Given the description of an element on the screen output the (x, y) to click on. 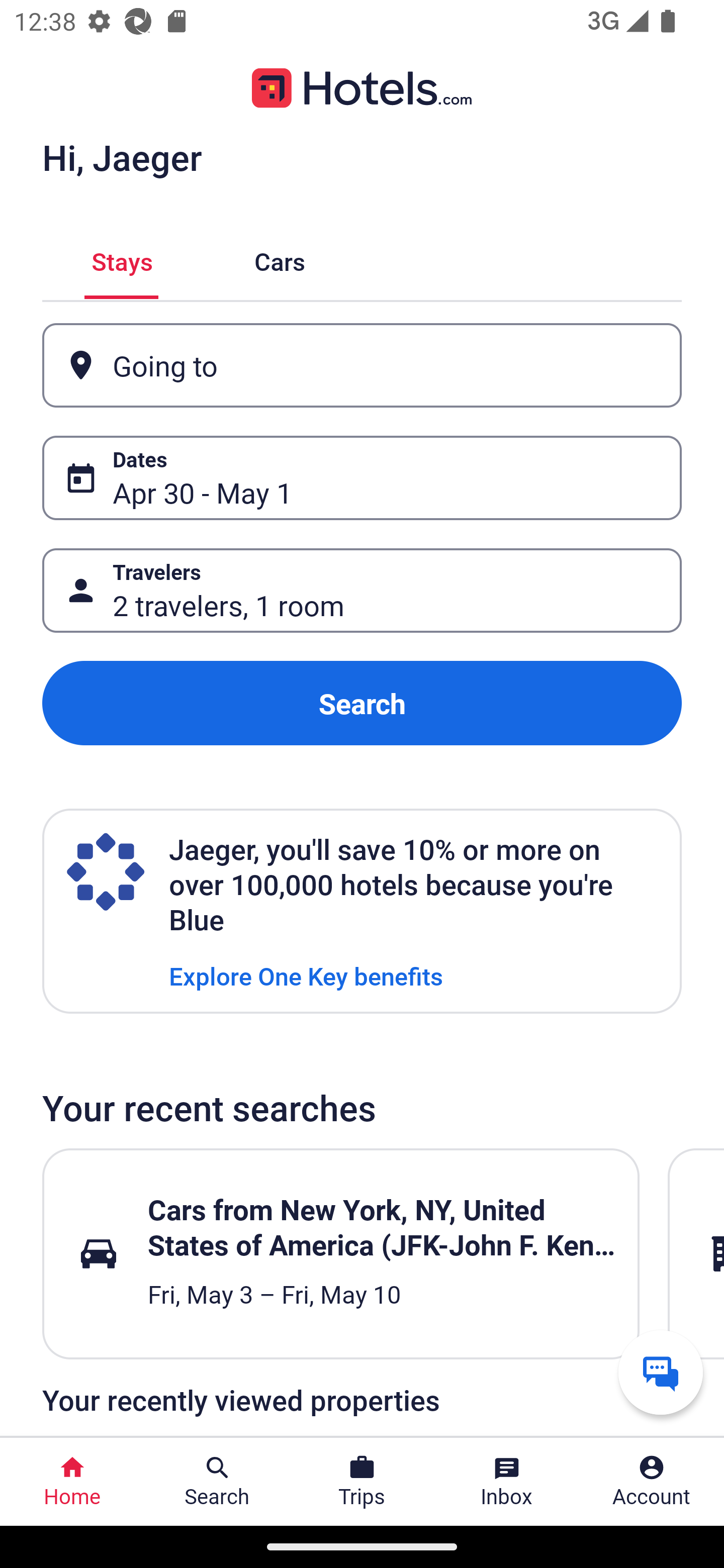
Hi, Jaeger (121, 156)
Cars (279, 259)
Going to Button (361, 365)
Dates Button Apr 30 - May 1 (361, 477)
Travelers Button 2 travelers, 1 room (361, 590)
Search (361, 702)
Get help from a virtual agent (660, 1371)
Search Search Button (216, 1481)
Trips Trips Button (361, 1481)
Inbox Inbox Button (506, 1481)
Account Profile. Button (651, 1481)
